Given the description of an element on the screen output the (x, y) to click on. 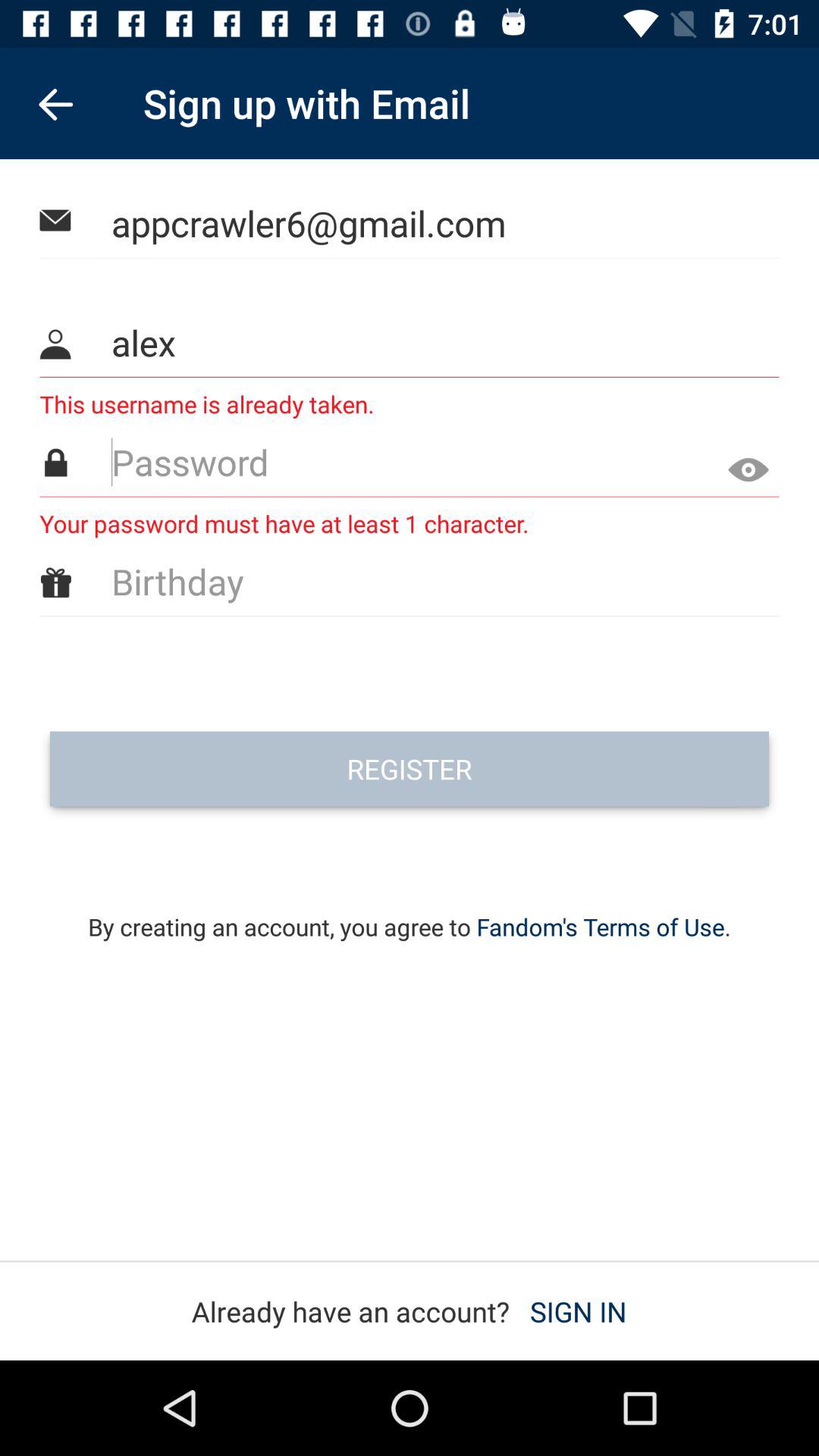
choose by creating an icon (409, 906)
